Given the description of an element on the screen output the (x, y) to click on. 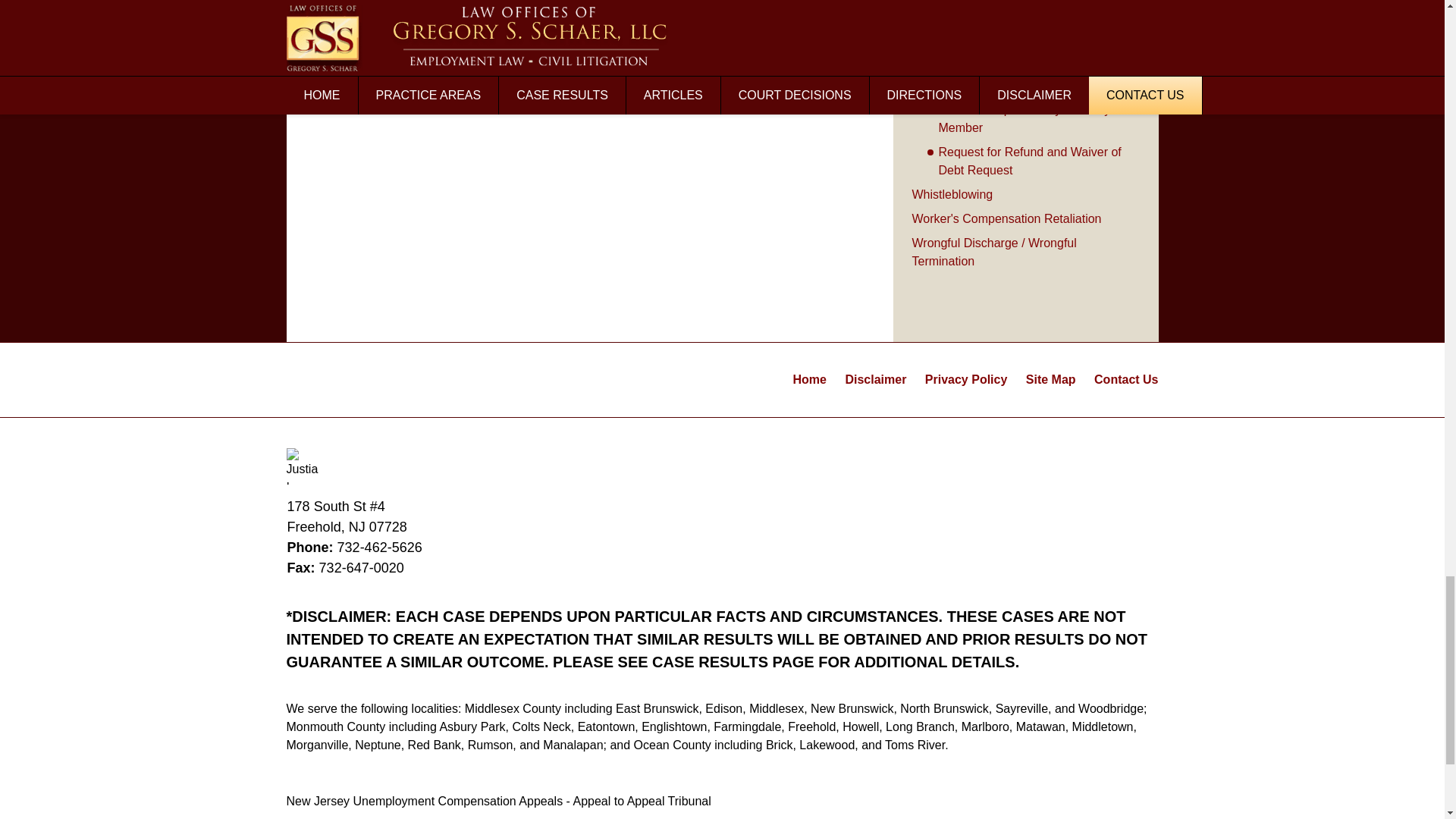
Justia (304, 465)
